Given the description of an element on the screen output the (x, y) to click on. 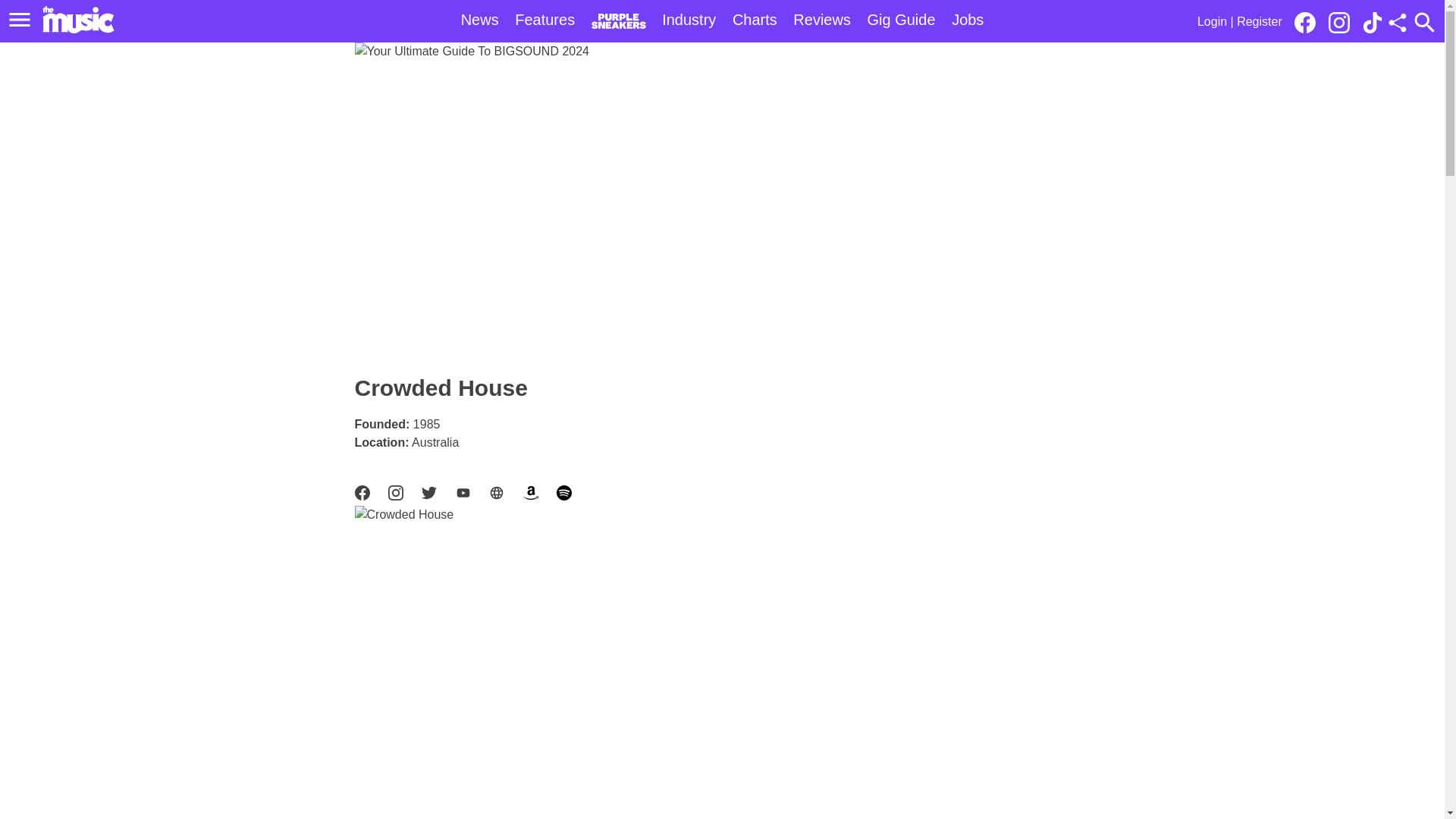
Register (1259, 21)
Open the main menu (22, 19)
Gig Guide (901, 19)
Link to our Instagram (1342, 21)
Reviews (821, 19)
Link to our Instagram (1338, 22)
Link to our Facebook (1309, 21)
Industry (689, 19)
Charts (754, 19)
News (480, 19)
